Given the description of an element on the screen output the (x, y) to click on. 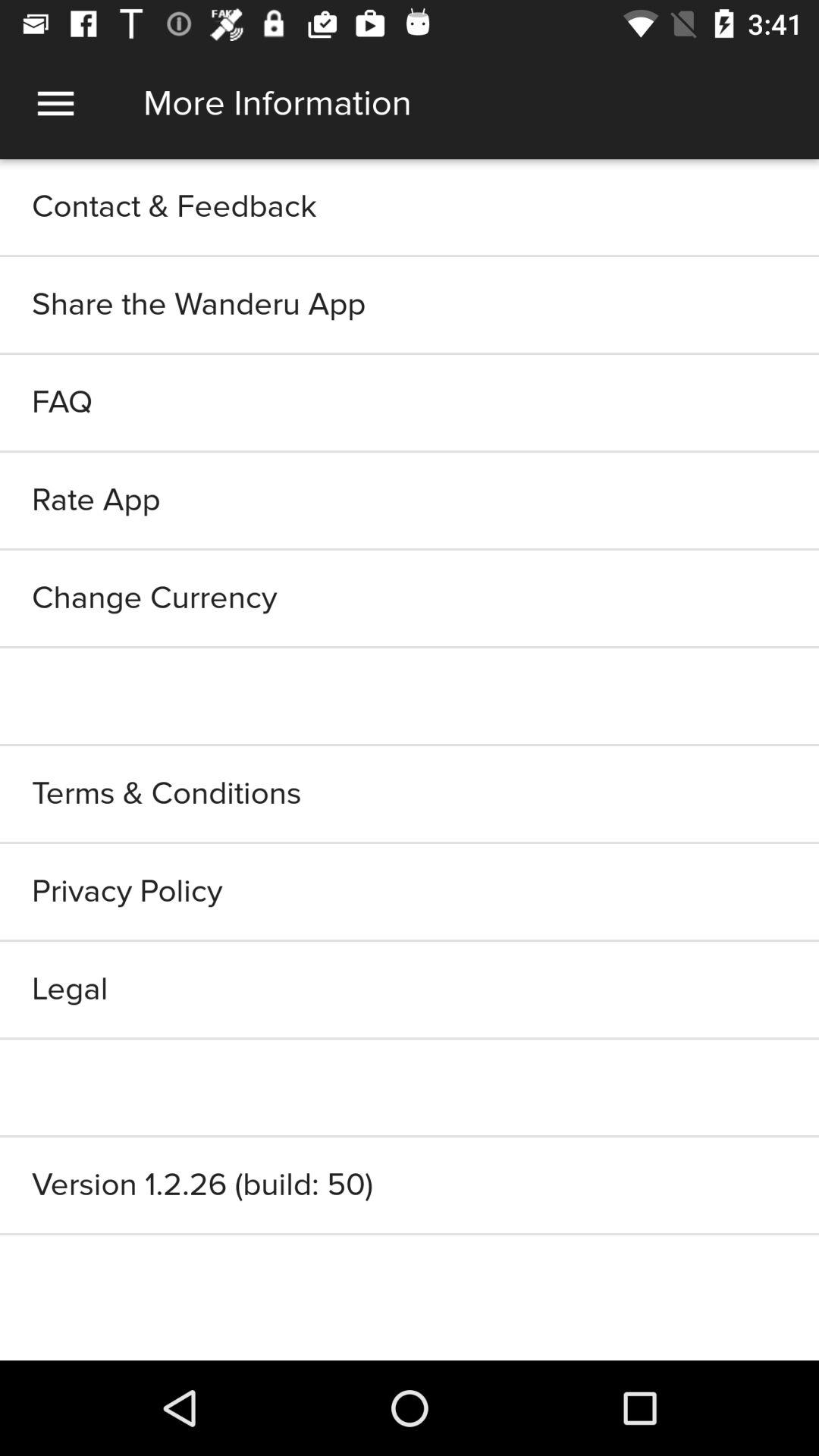
select the change currency item (409, 598)
